Given the description of an element on the screen output the (x, y) to click on. 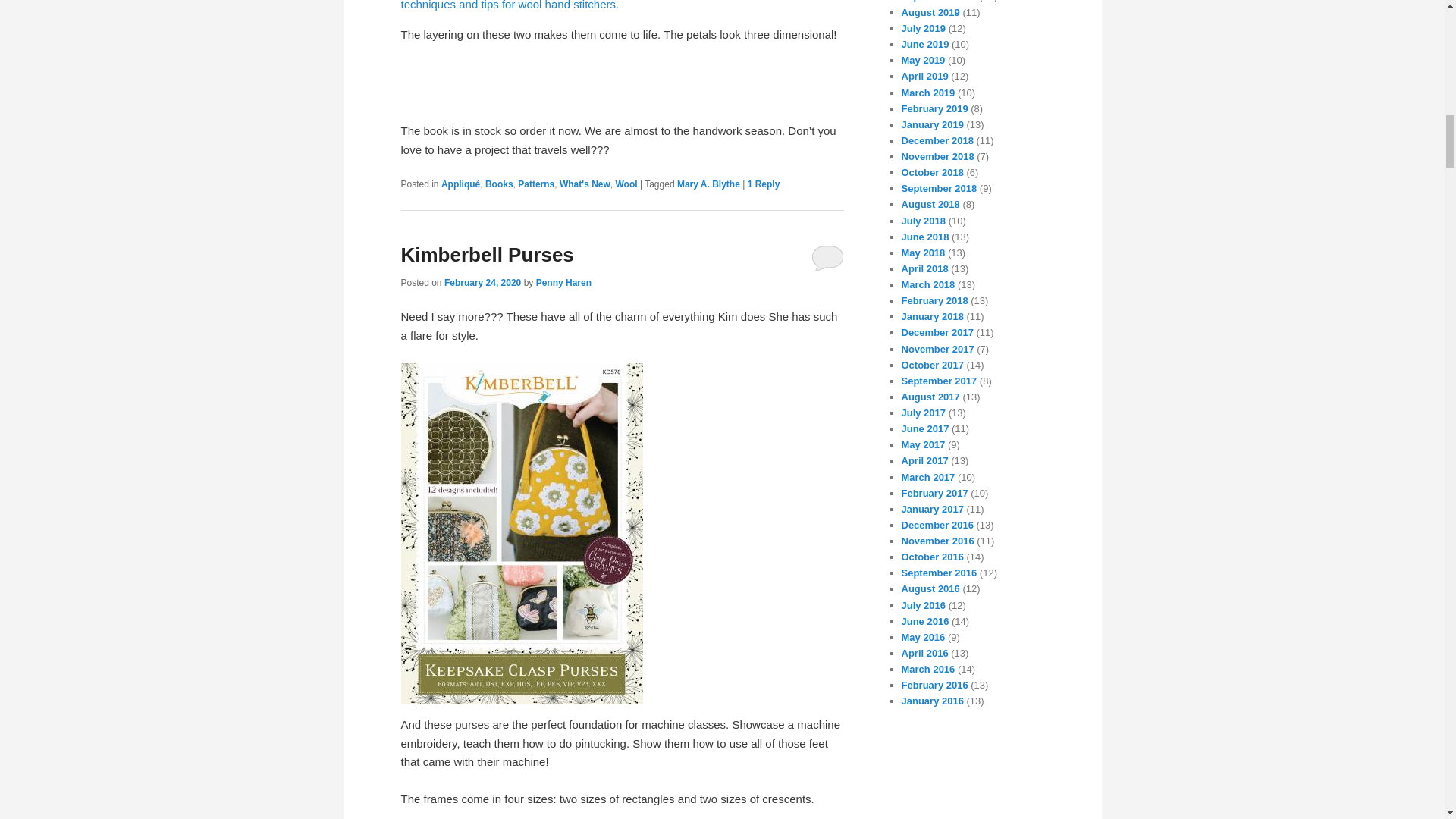
What's New (584, 184)
Penny Haren (563, 282)
Kimberbell Purses (486, 254)
February 24, 2020 (482, 282)
View all posts by Penny Haren (563, 282)
1 Reply (764, 184)
Patterns (536, 184)
Mary A. Blythe (708, 184)
Books (498, 184)
8:00 pm (482, 282)
